Given the description of an element on the screen output the (x, y) to click on. 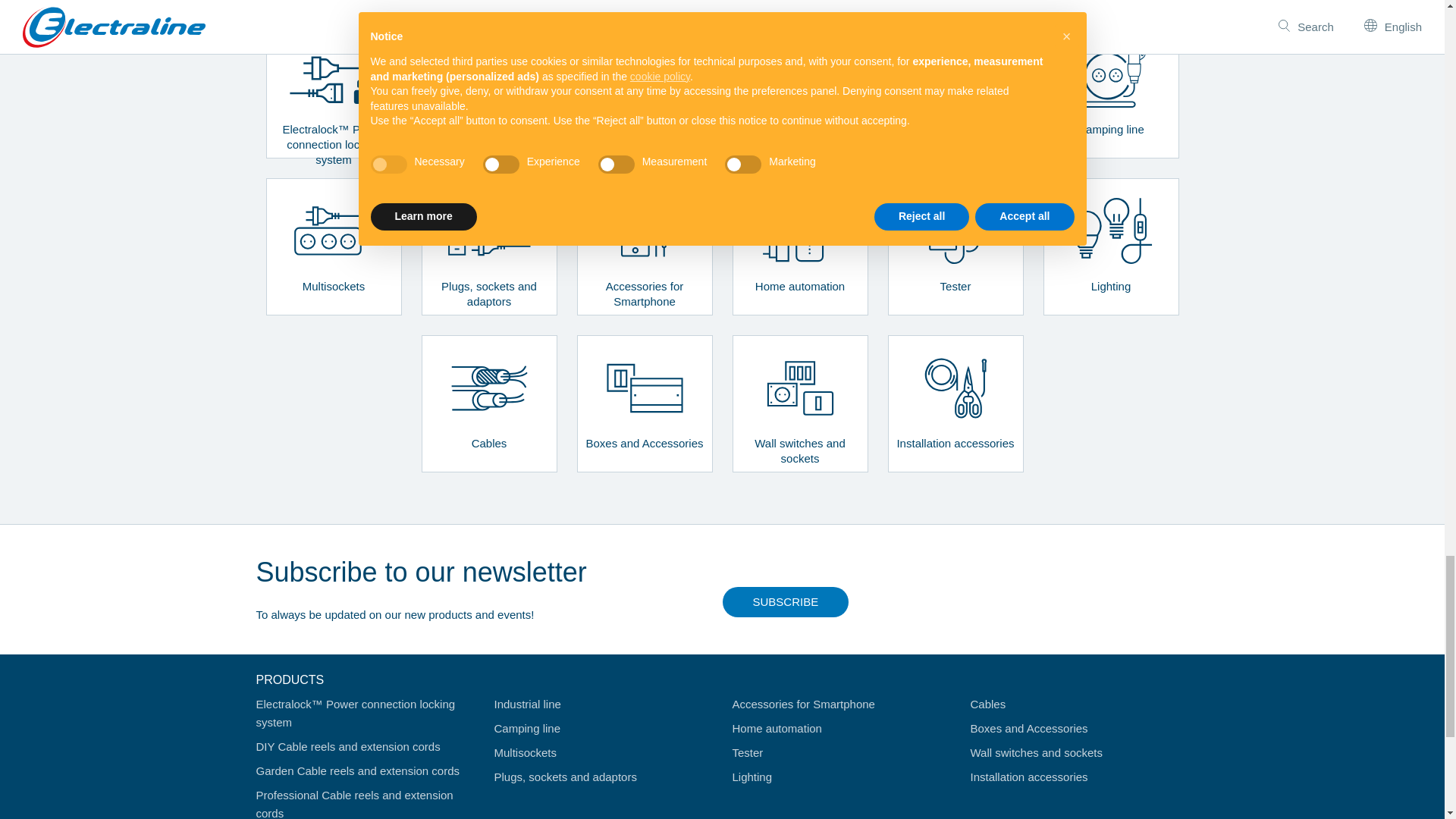
Cables (489, 403)
Tester (954, 246)
DIY Cable reels and extension cords (489, 89)
Wall switches and sockets (799, 403)
Industrial line (954, 89)
Plugs, sockets and adaptors (489, 246)
Garden Cable reels and extension cords (643, 89)
Boxes and Accessories (643, 403)
Camping line (1111, 89)
Lighting (1111, 246)
